Given the description of an element on the screen output the (x, y) to click on. 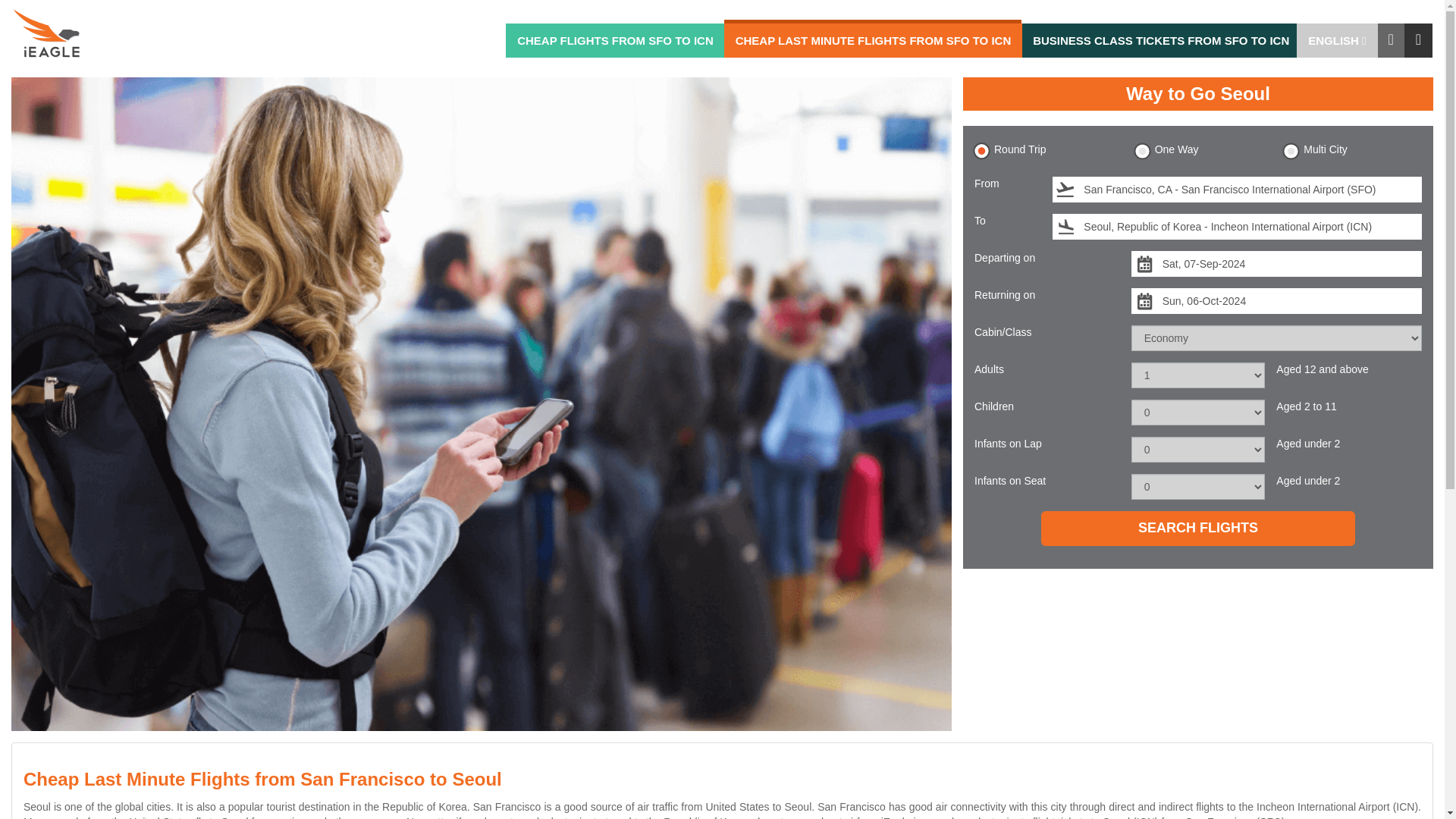
CHEAP LAST MINUTE FLIGHTS FROM SFO TO ICN (873, 40)
CHEAP FLIGHTS FROM SFO TO ICN (615, 40)
Sun, 06-Oct-2024 (1276, 300)
Sat, 07-Sep-2024 (1276, 263)
ENGLISH (1337, 40)
BUSINESS CLASS TICKETS FROM SFO TO ICN (1161, 40)
